Given the description of an element on the screen output the (x, y) to click on. 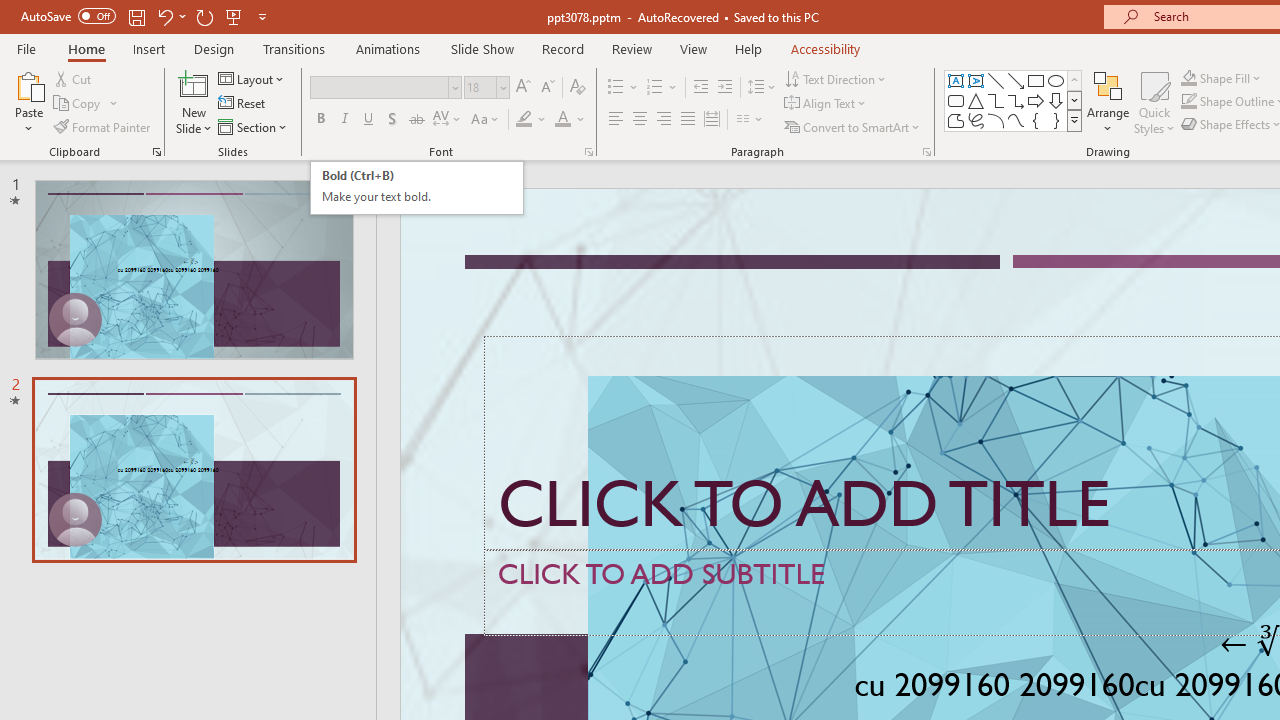
Paste (28, 84)
Increase Indent (725, 87)
Design (214, 48)
Format Painter (103, 126)
Arrow: Down (1055, 100)
Review (631, 48)
Text Highlight Color (531, 119)
Cut (73, 78)
Columns (750, 119)
Accessibility (825, 48)
Office Clipboard... (156, 151)
Section (254, 126)
